Given the description of an element on the screen output the (x, y) to click on. 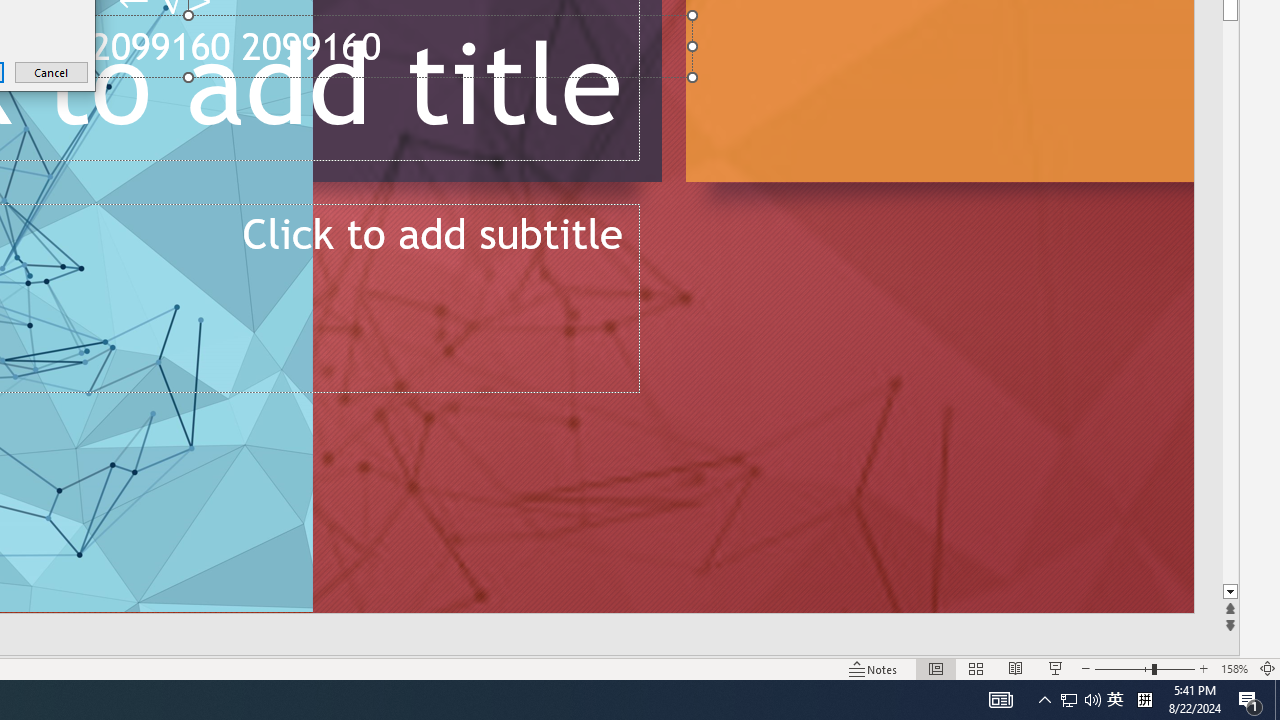
Line down (1069, 699)
Tray Input Indicator - Chinese (Simplified, China) (1230, 592)
Q2790: 100% (1144, 699)
Page down (1092, 699)
Notification Chevron (1230, 301)
